Given the description of an element on the screen output the (x, y) to click on. 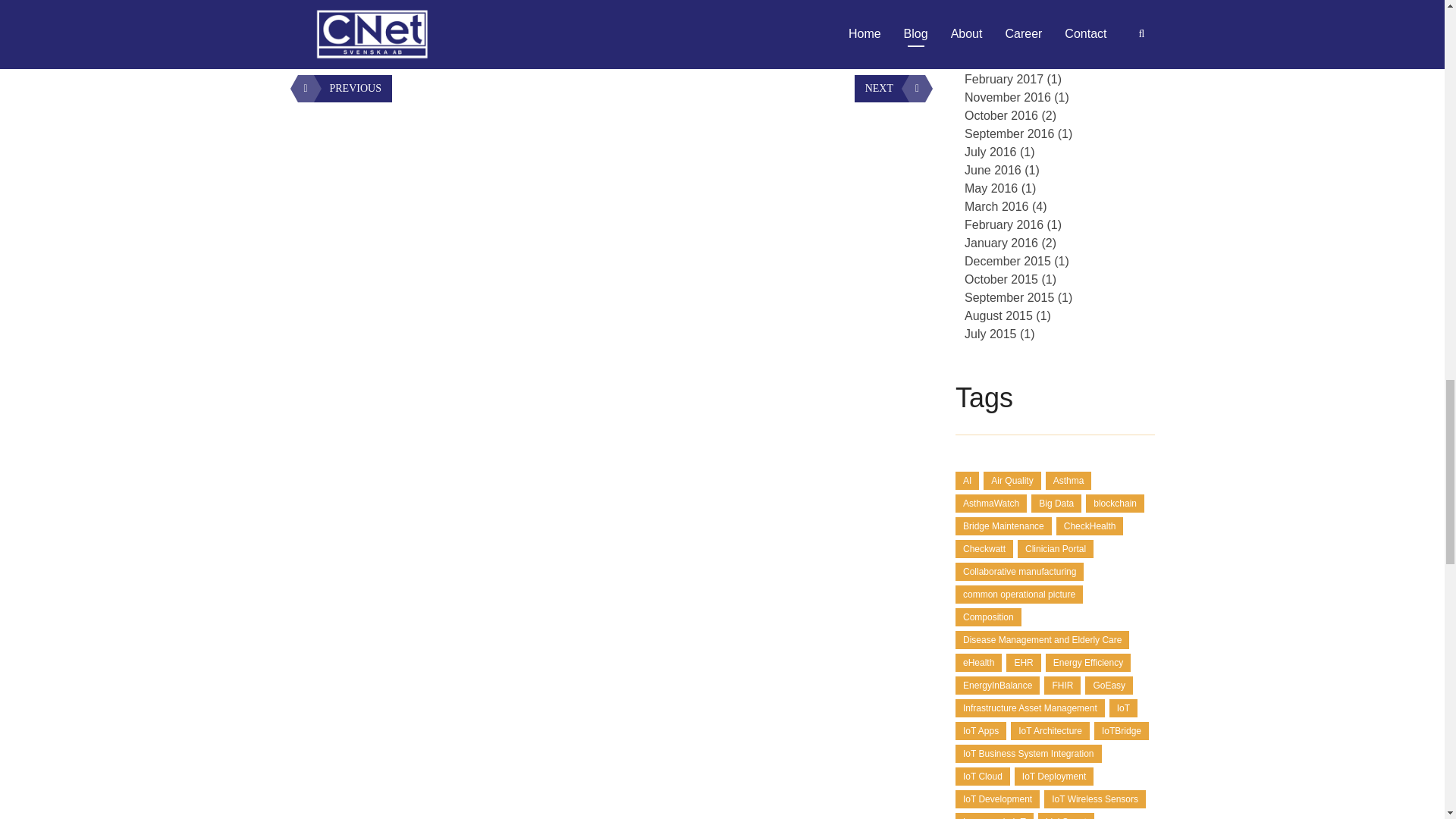
Monica (855, 30)
PREVIOUS (344, 88)
common operational picture (453, 30)
Large scale IoT (796, 30)
NEXT (889, 88)
News (362, 30)
IoT Wireless Sensors (703, 30)
IoT Architecture (610, 30)
IoT Apps (546, 30)
